Given the description of an element on the screen output the (x, y) to click on. 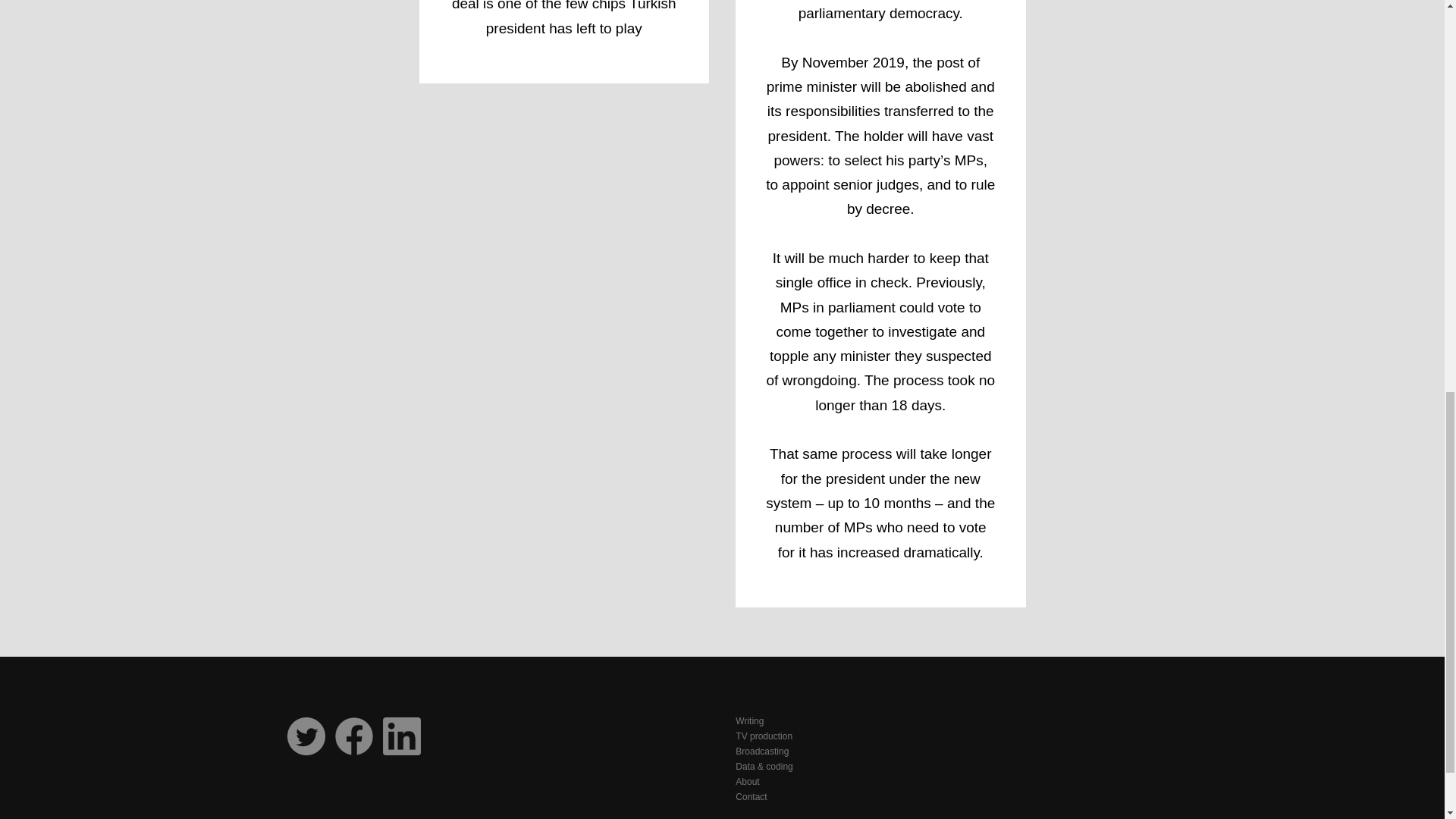
Writing (947, 720)
About (947, 781)
Broadcasting (947, 751)
TV production (947, 735)
Contact (947, 796)
